Given the description of an element on the screen output the (x, y) to click on. 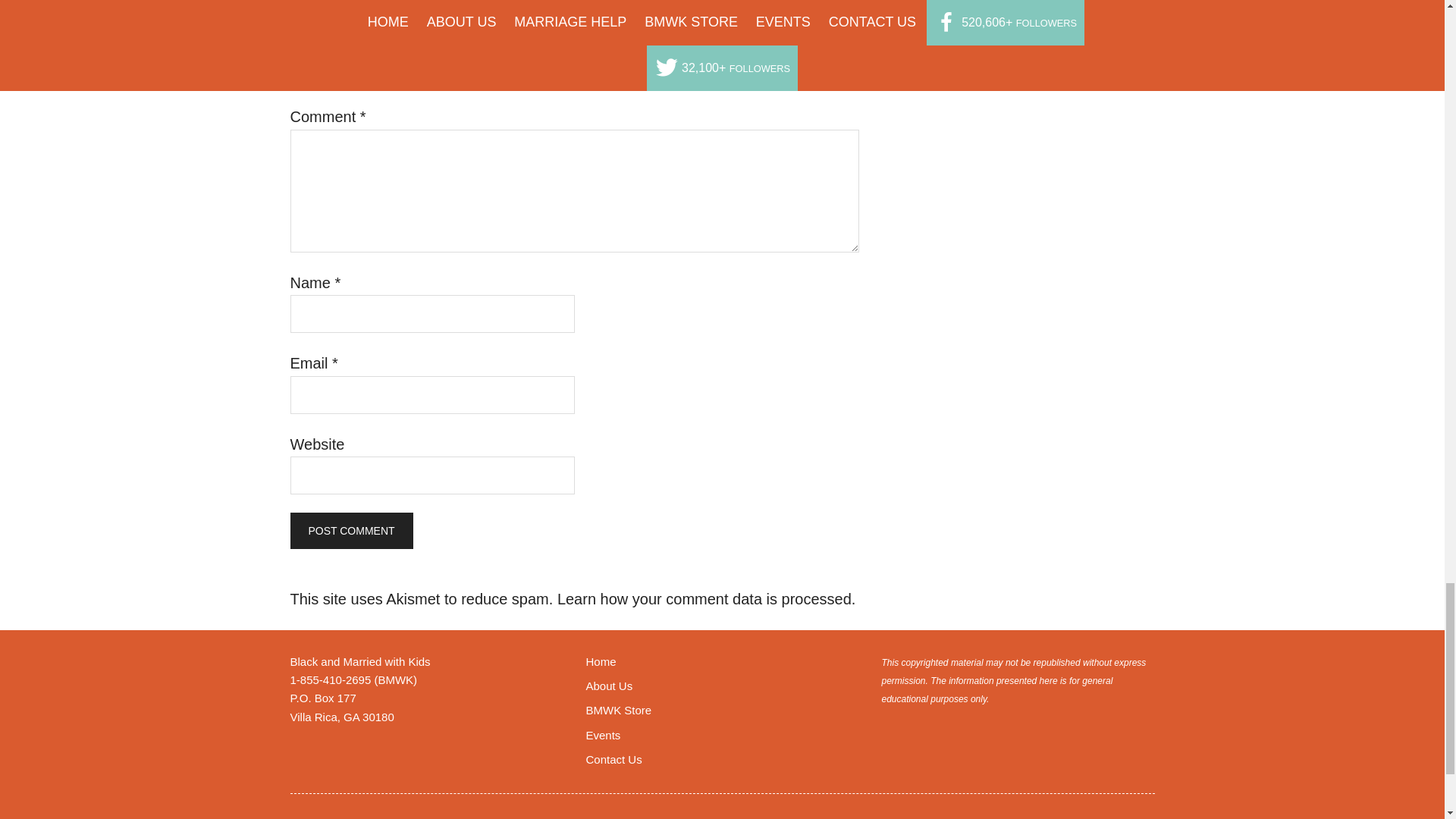
Home (600, 661)
Post Comment (350, 530)
Post Comment (350, 530)
Learn how your comment data is processed (704, 598)
